Given the description of an element on the screen output the (x, y) to click on. 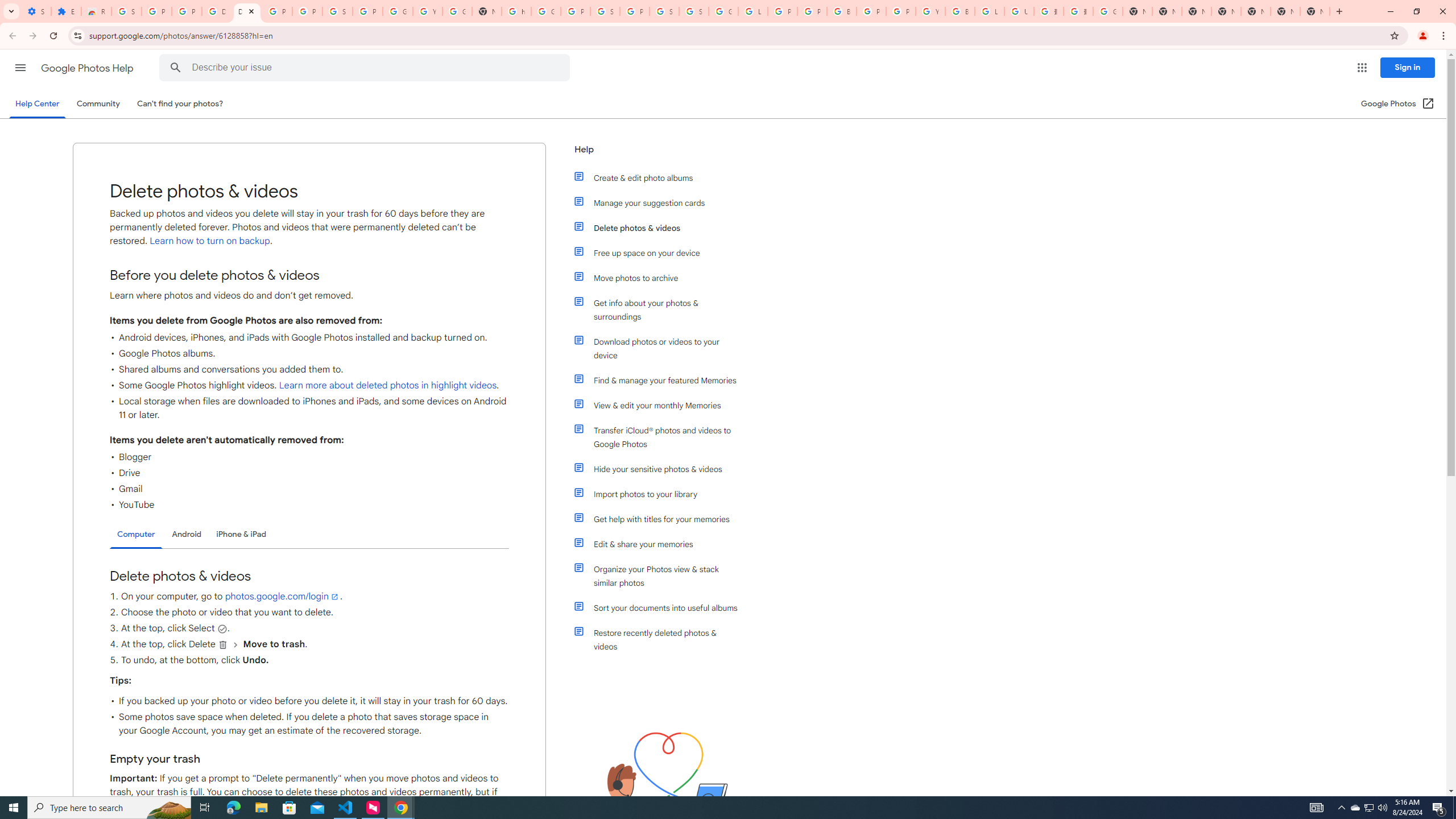
photos.google.com/login (282, 596)
iPhone & iPad (240, 533)
Android (186, 533)
Privacy Help Center - Policies Help (782, 11)
Google Account (397, 11)
Sign in - Google Accounts (664, 11)
Reviews: Helix Fruit Jump Arcade Game (95, 11)
Restore recently deleted photos & videos (661, 639)
